Given the description of an element on the screen output the (x, y) to click on. 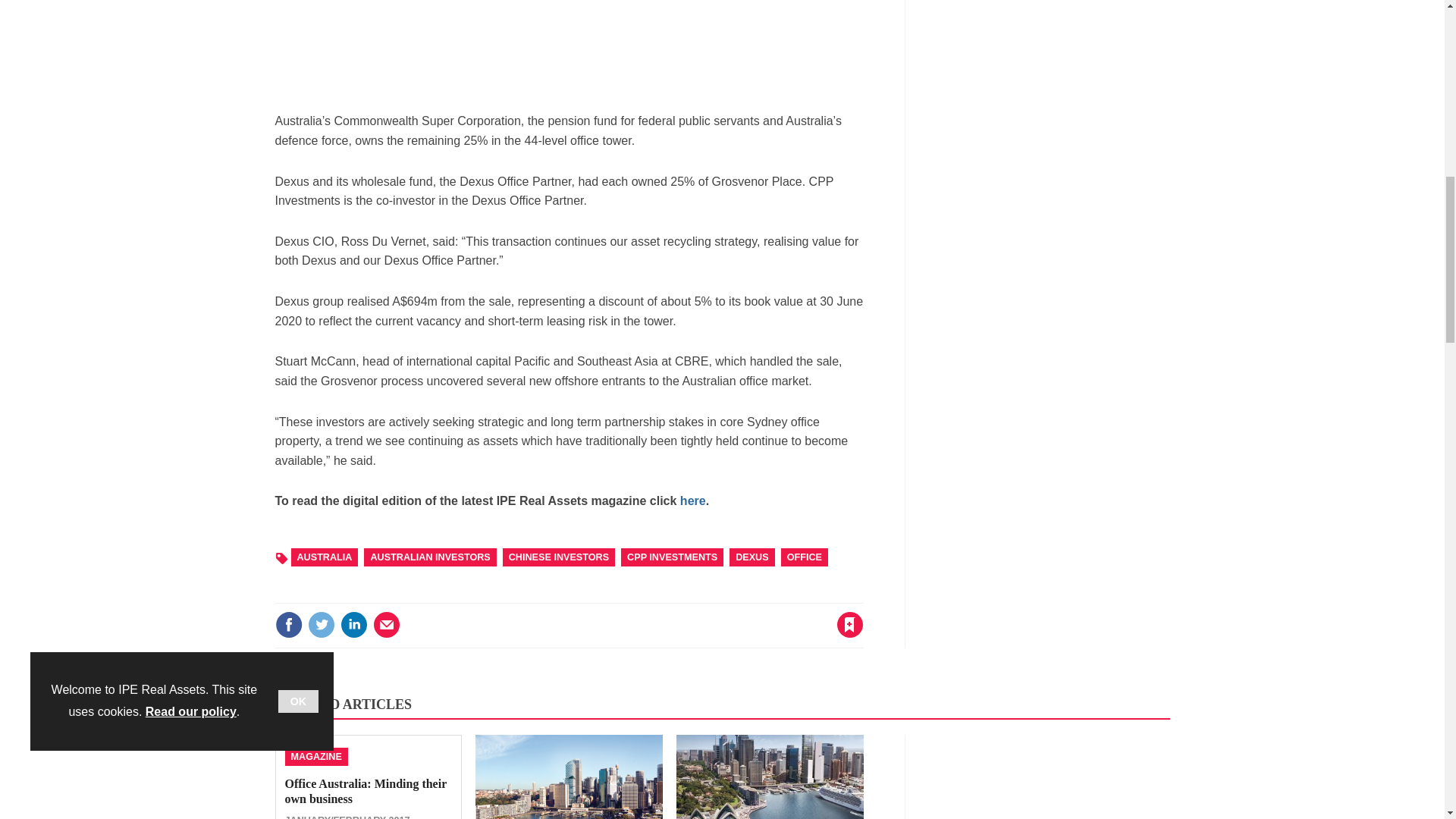
Share this on Facebook (288, 624)
Share this on Twitter (320, 624)
3rd party ad content (568, 48)
3rd party ad content (1055, 54)
Share this on Linked in (352, 624)
Email this article (386, 624)
